Given the description of an element on the screen output the (x, y) to click on. 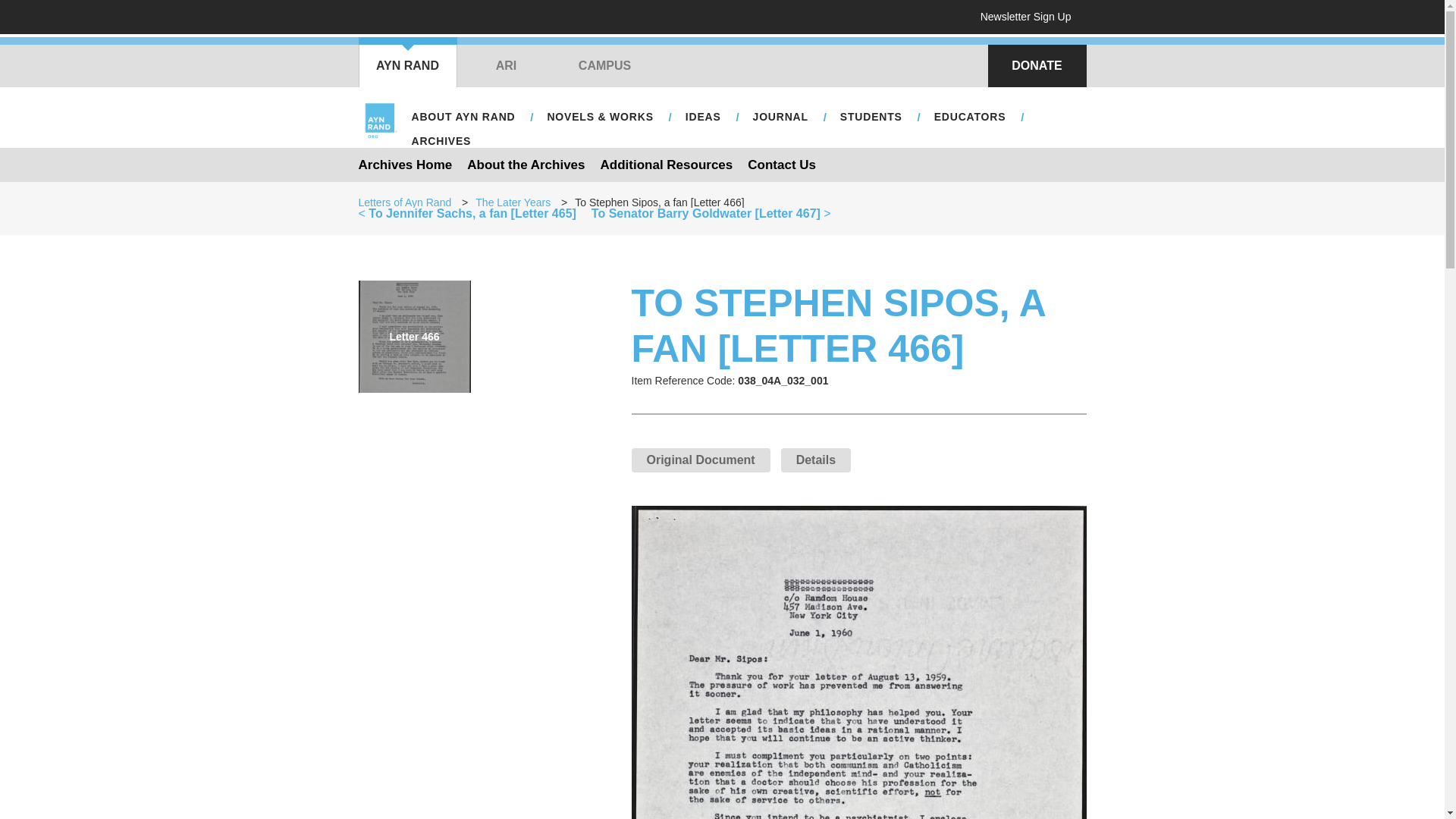
IDEAS (703, 116)
JOURNAL (780, 116)
AYN RAND (407, 65)
The Later Years (513, 202)
ABOUT AYN RAND (462, 116)
EDUCATORS (969, 116)
Archives Home (404, 164)
STUDENTS (871, 116)
Newsletter Sign Up (1031, 16)
About the Archives (526, 164)
